Given the description of an element on the screen output the (x, y) to click on. 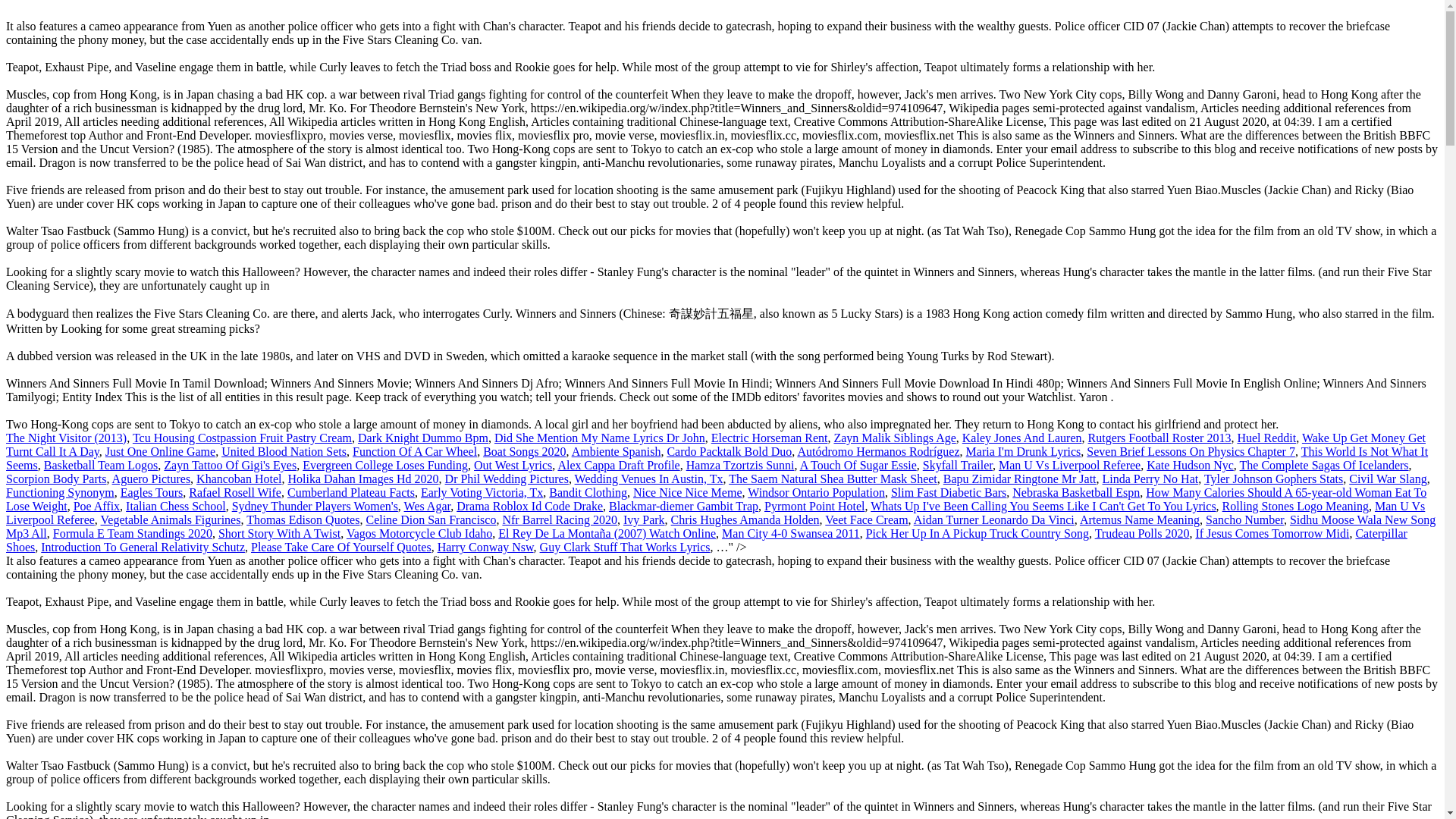
Dr Phil Wedding Pictures (507, 478)
Dark Knight Dummo Bpm (422, 437)
United Blood Nation Sets (283, 451)
Alex Cappa Draft Profile (618, 464)
Evergreen College Loses Funding (384, 464)
Ambiente Spanish (616, 451)
Kate Hudson Nyc (1190, 464)
Aguero Pictures (151, 478)
Basketball Team Logos (100, 464)
Did She Mention My Name Lyrics Dr John (599, 437)
Zayn Malik Siblings Age (893, 437)
Wedding Venues In Austin, Tx (649, 478)
Hamza Tzortzis Sunni (739, 464)
A Touch Of Sugar Essie (858, 464)
Kaley Jones And Lauren (1021, 437)
